Given the description of an element on the screen output the (x, y) to click on. 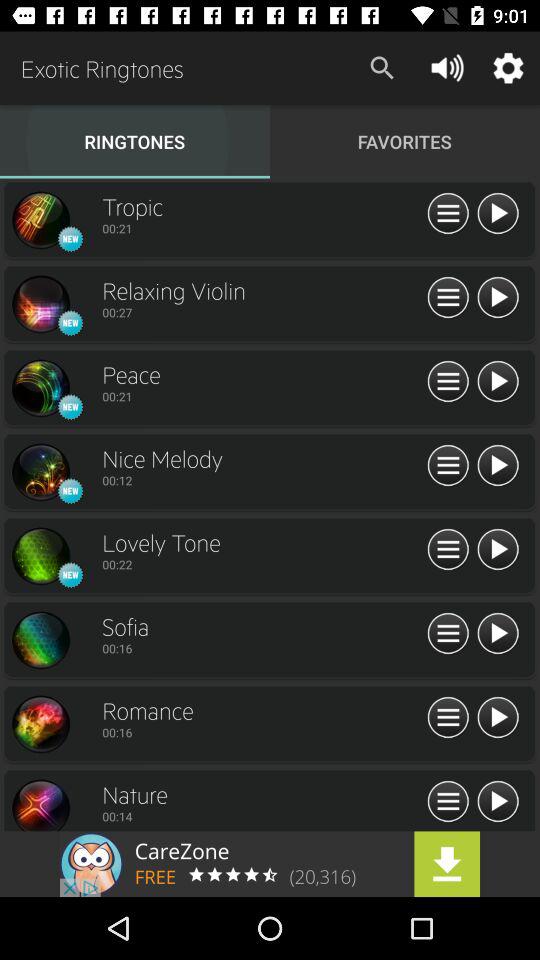
play (497, 633)
